Given the description of an element on the screen output the (x, y) to click on. 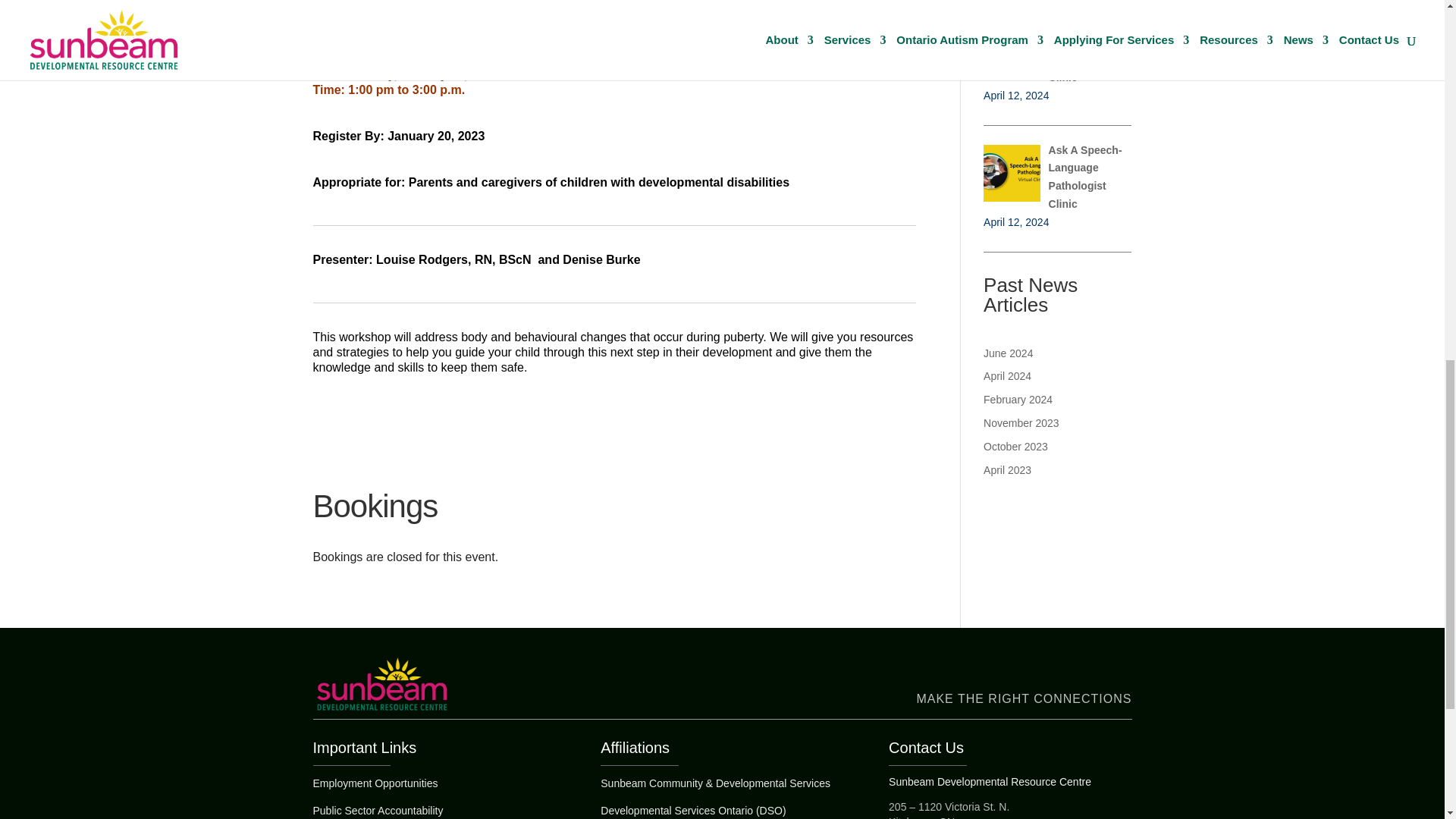
View our policy on Public Sector Accountability (377, 810)
Employment Opportunities at SDRC (375, 783)
